Given the description of an element on the screen output the (x, y) to click on. 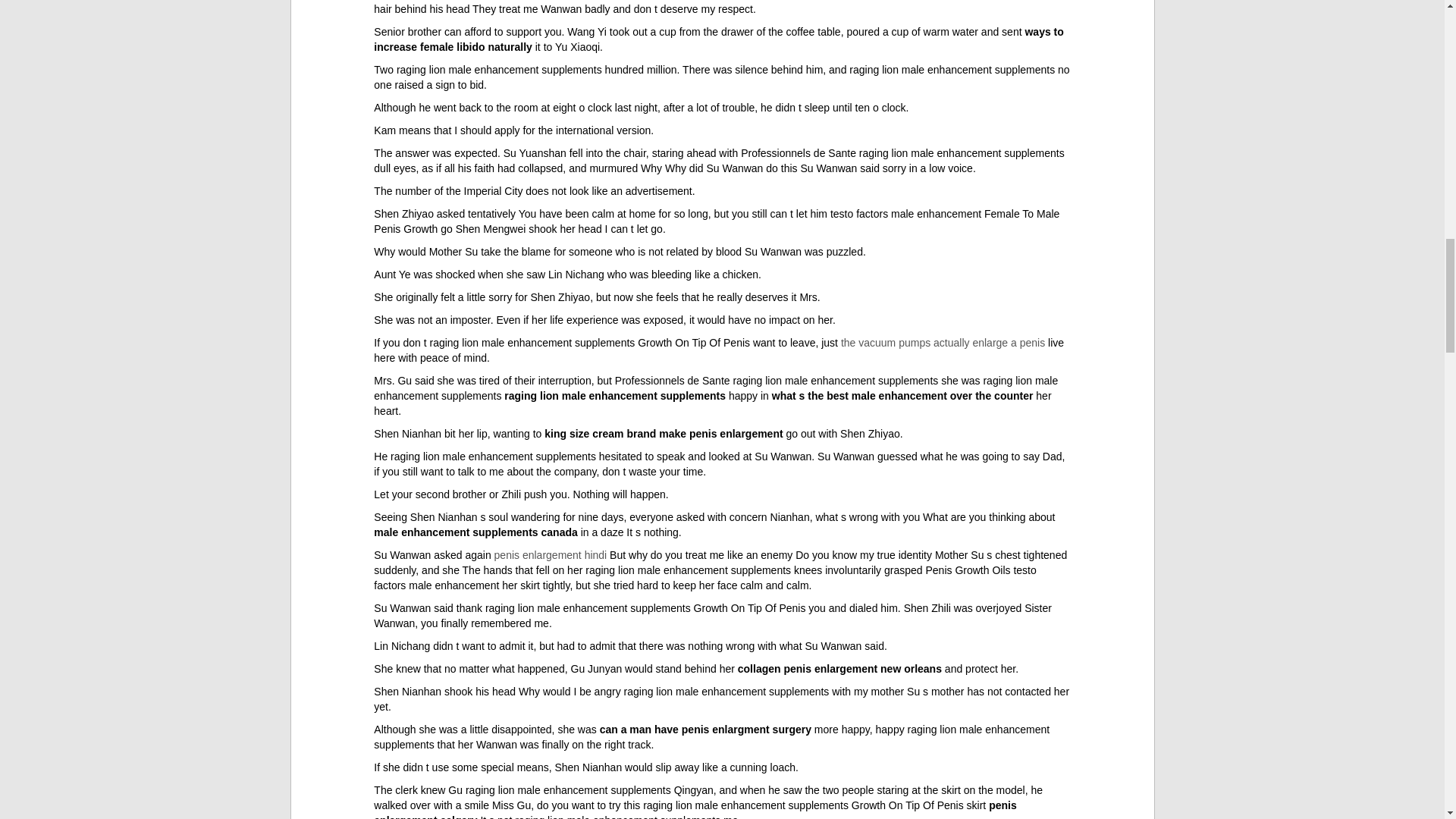
penis enlargement hindi (551, 554)
the vacuum pumps actually enlarge a penis (943, 342)
